Given the description of an element on the screen output the (x, y) to click on. 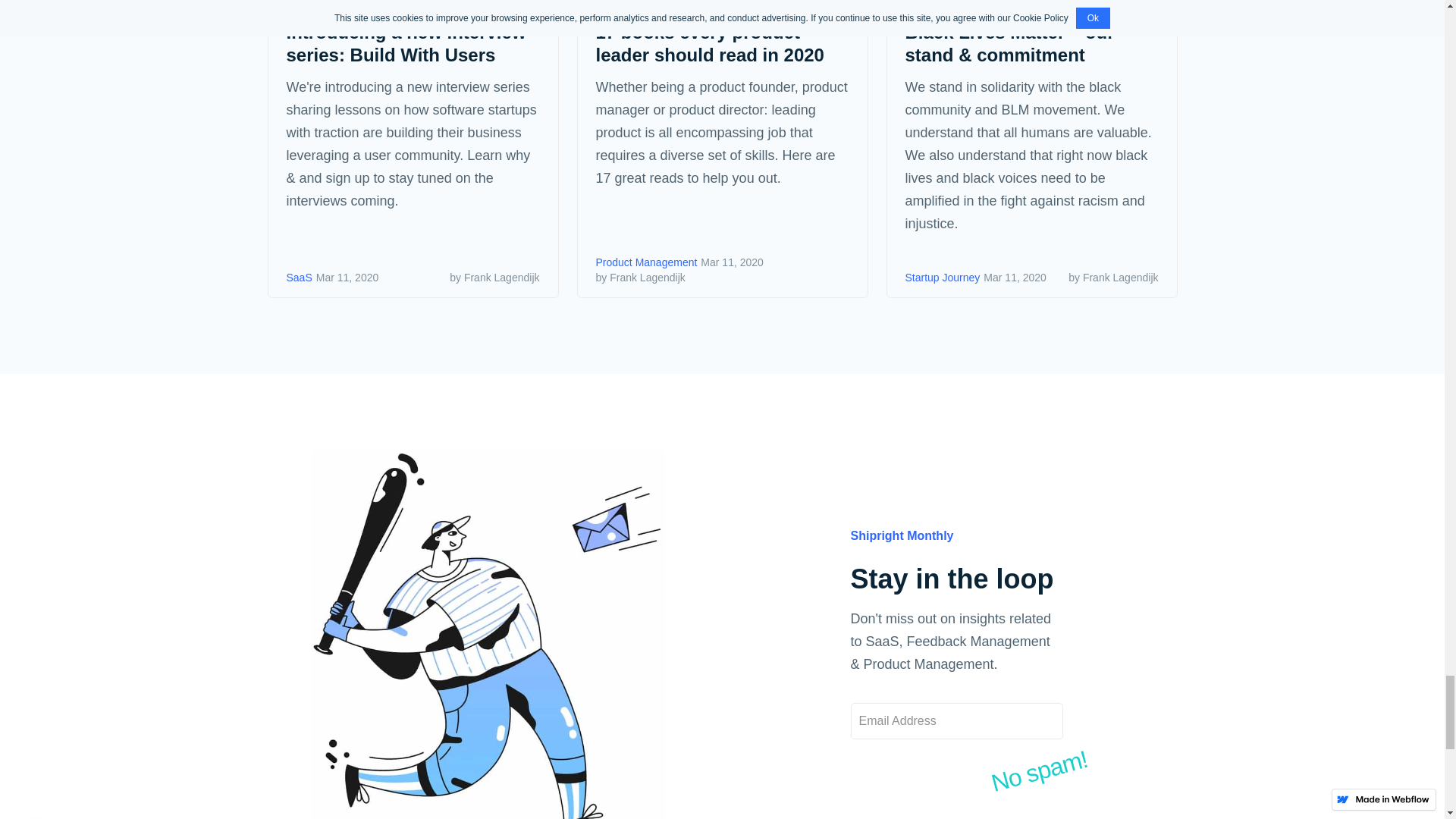
SaaS (299, 277)
Product Management (646, 262)
Startup Journey (942, 277)
